Given the description of an element on the screen output the (x, y) to click on. 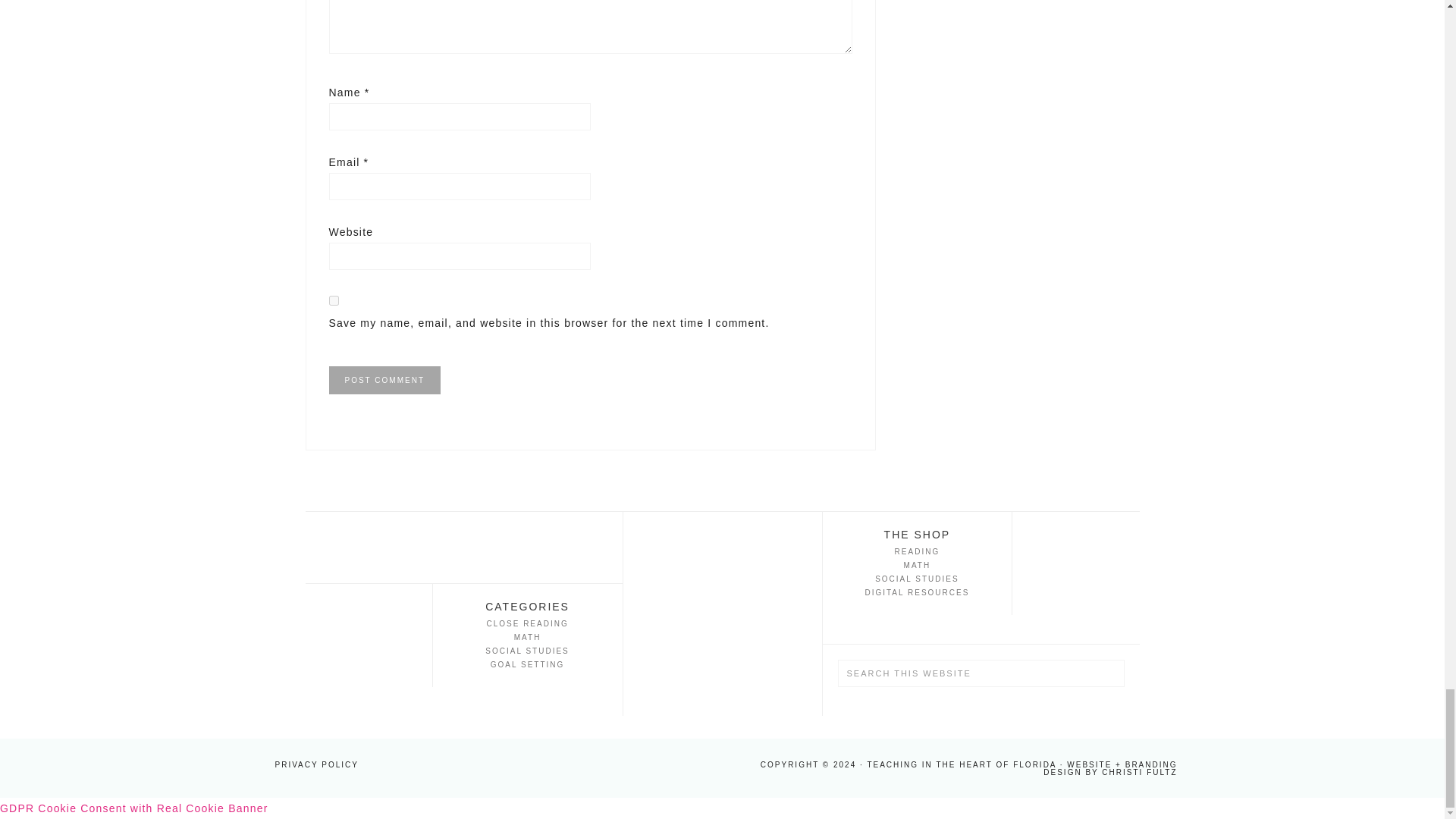
yes (334, 300)
Post Comment (385, 379)
Post Comment (385, 379)
